Given the description of an element on the screen output the (x, y) to click on. 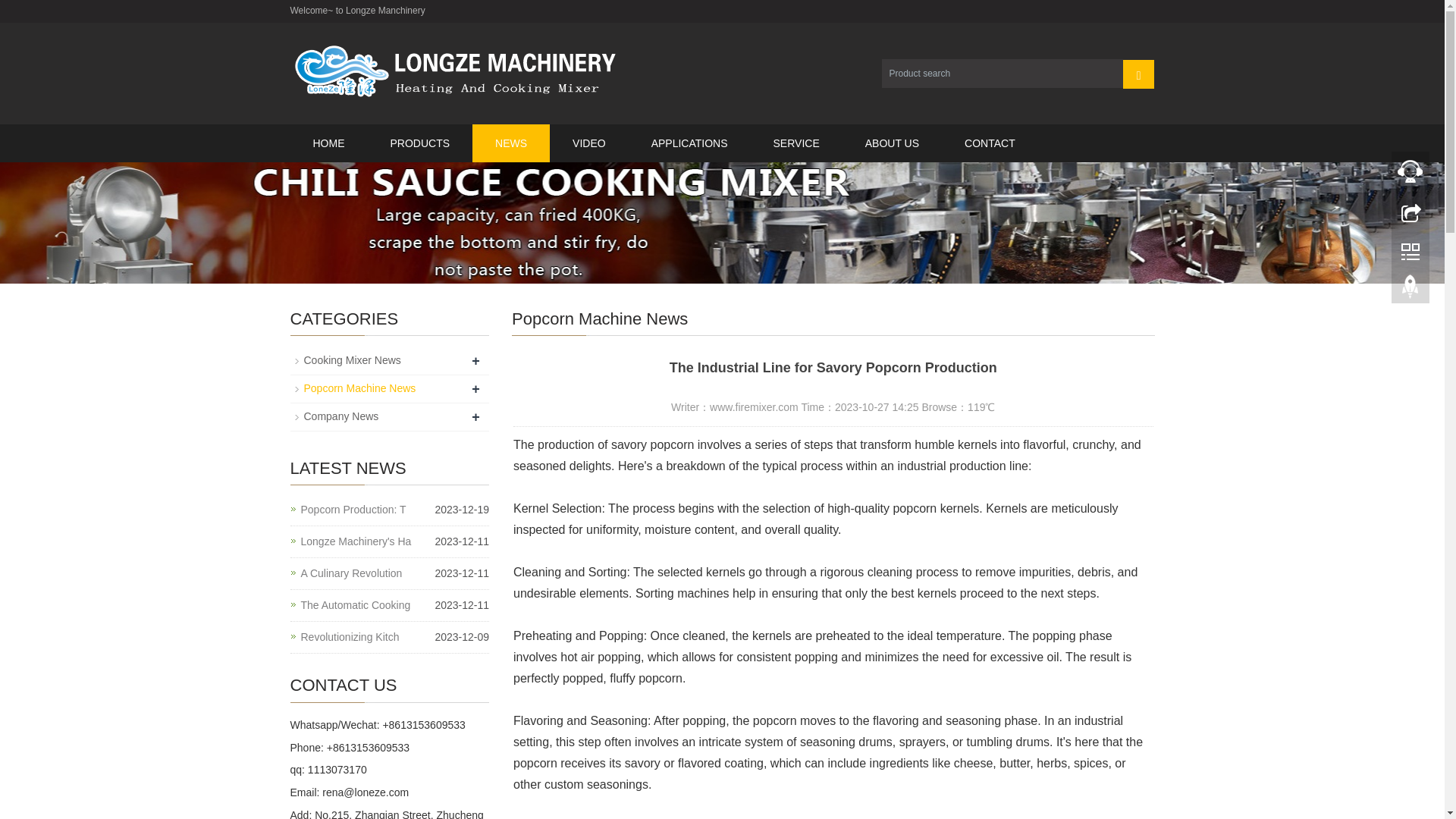
Product search (1138, 72)
VIDEO (589, 143)
The Automatic Cooking (354, 605)
SERVICE (797, 143)
Popcorn Production: T (352, 509)
PRODUCTS (418, 143)
Longze Machinery's Ha (354, 541)
APPLICATIONS (689, 143)
A Culinary Revolution (350, 573)
Revolutionizing Kitch (348, 637)
ABOUT US (892, 143)
CONTACT (990, 143)
NEWS (510, 143)
HOME (327, 143)
Return to the top (1410, 290)
